Given the description of an element on the screen output the (x, y) to click on. 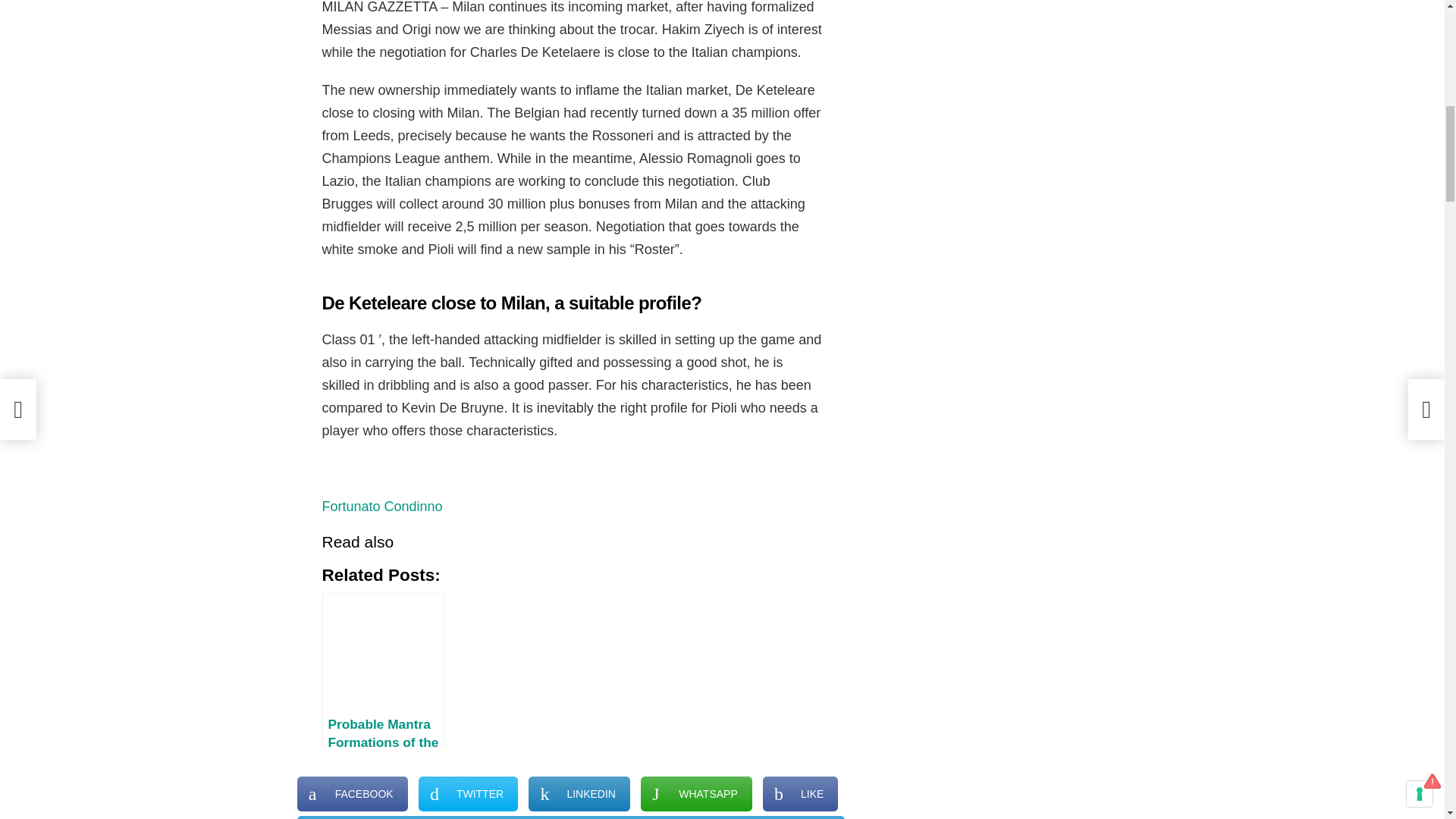
Share on LinkedIn (579, 793)
Share on WhatsApp (696, 793)
Share on Twitter (468, 793)
Share on Facebook (352, 793)
